Given the description of an element on the screen output the (x, y) to click on. 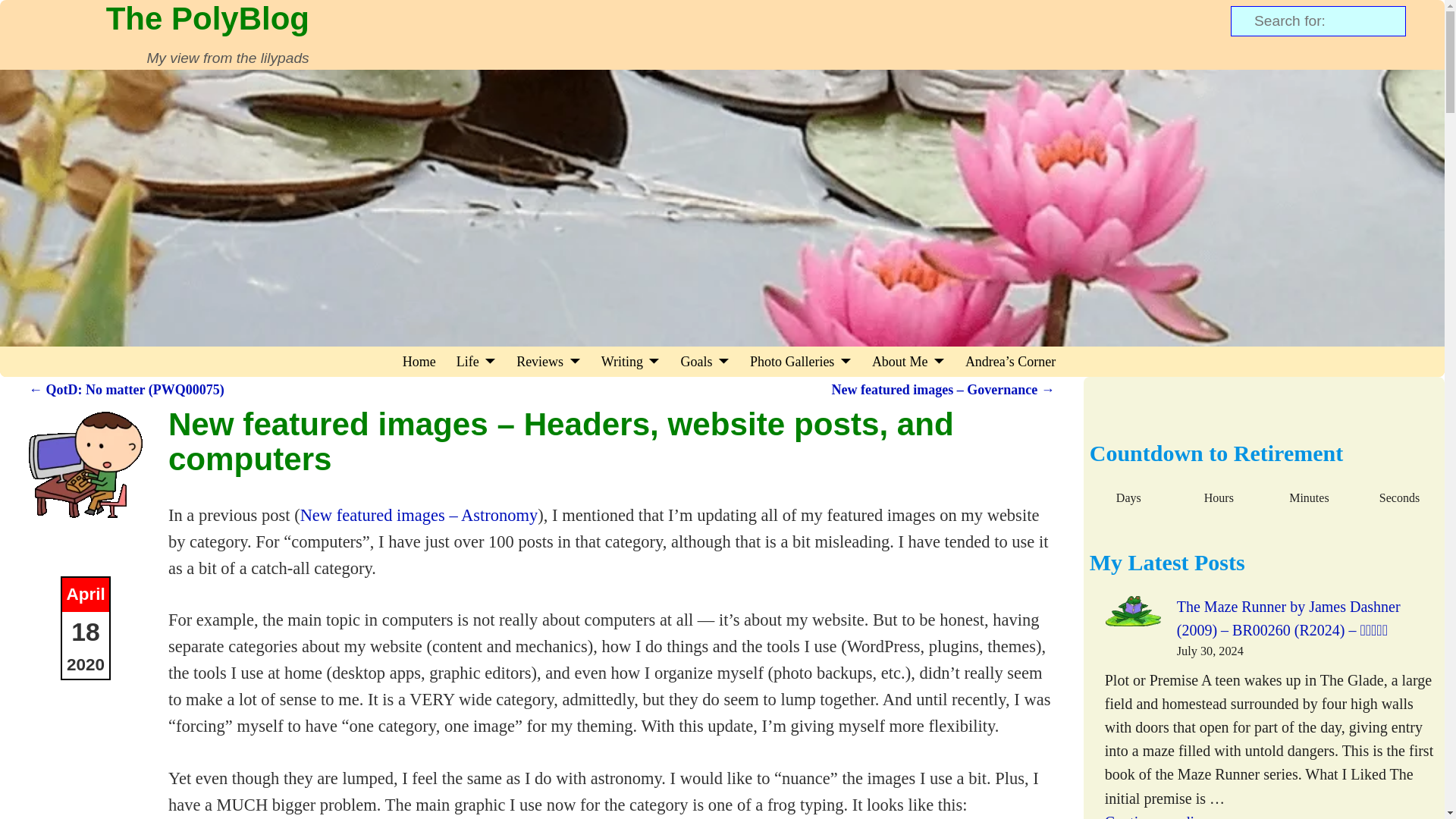
Reviews (548, 361)
The PolyBlog (207, 18)
Life (475, 361)
The PolyBlog (207, 18)
Home (418, 361)
